Given the description of an element on the screen output the (x, y) to click on. 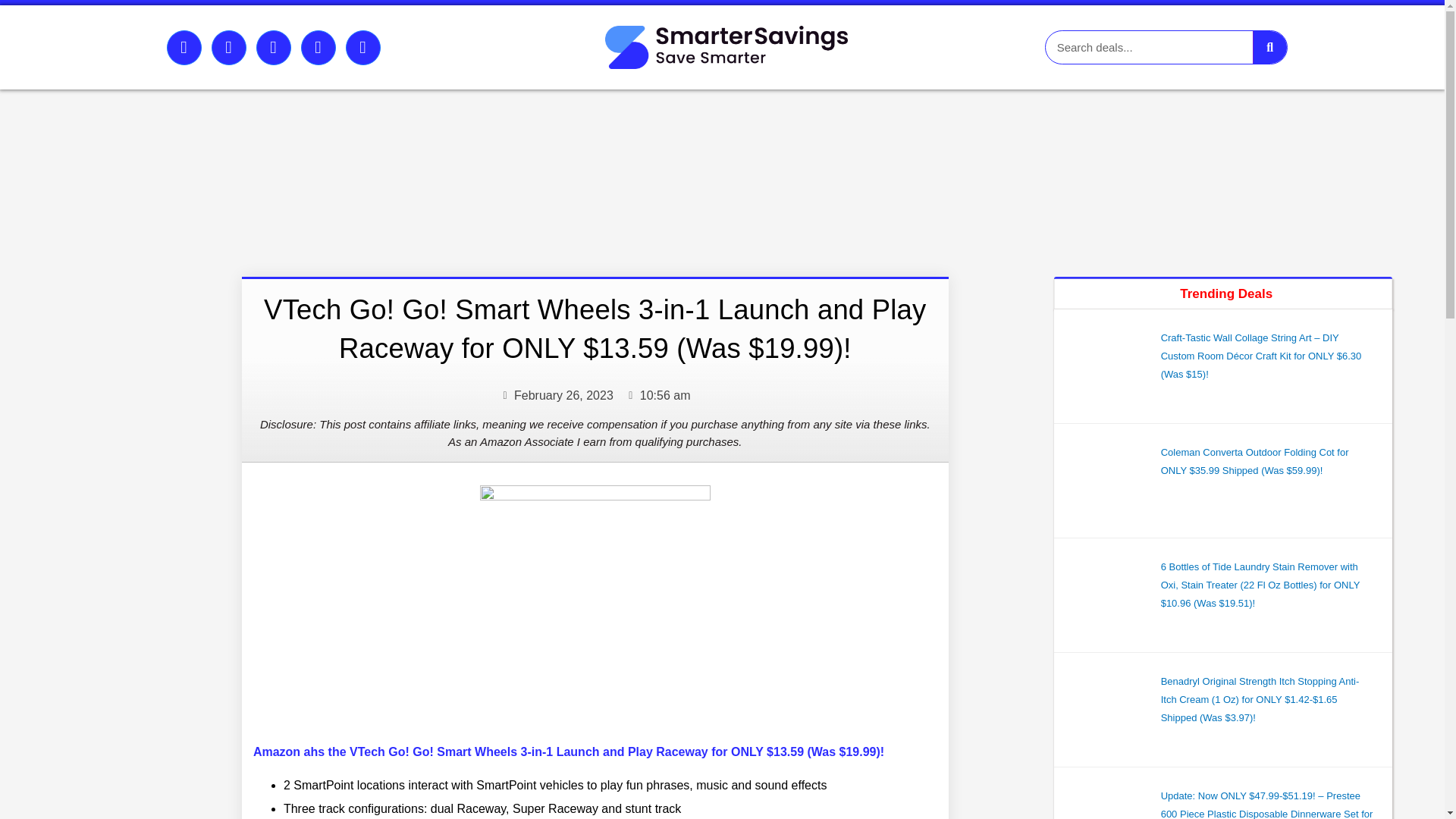
Search (1269, 47)
Search (1148, 47)
February 26, 2023 (555, 395)
Advertisement (429, 168)
